Given the description of an element on the screen output the (x, y) to click on. 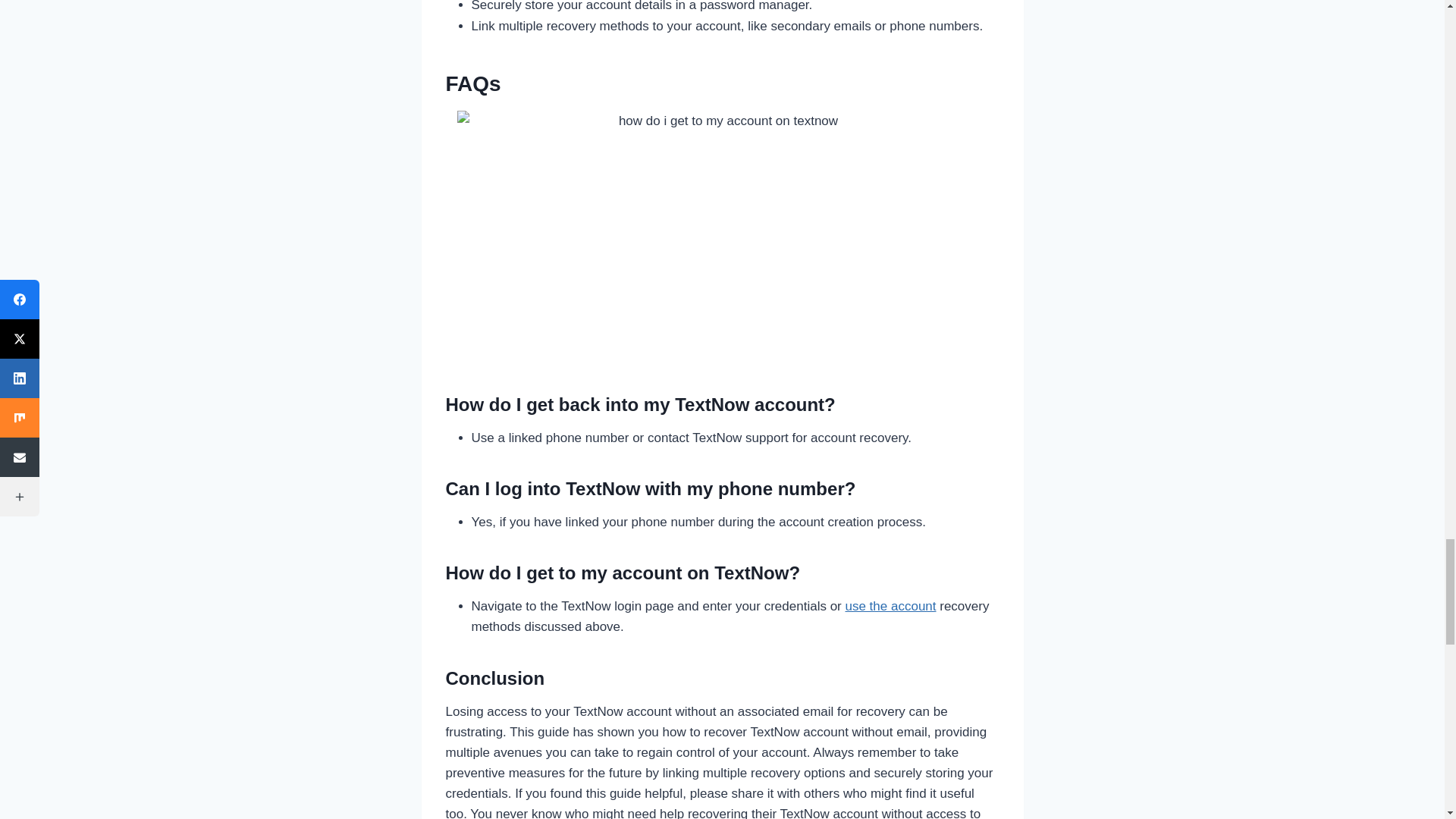
use the account (890, 605)
